Given the description of an element on the screen output the (x, y) to click on. 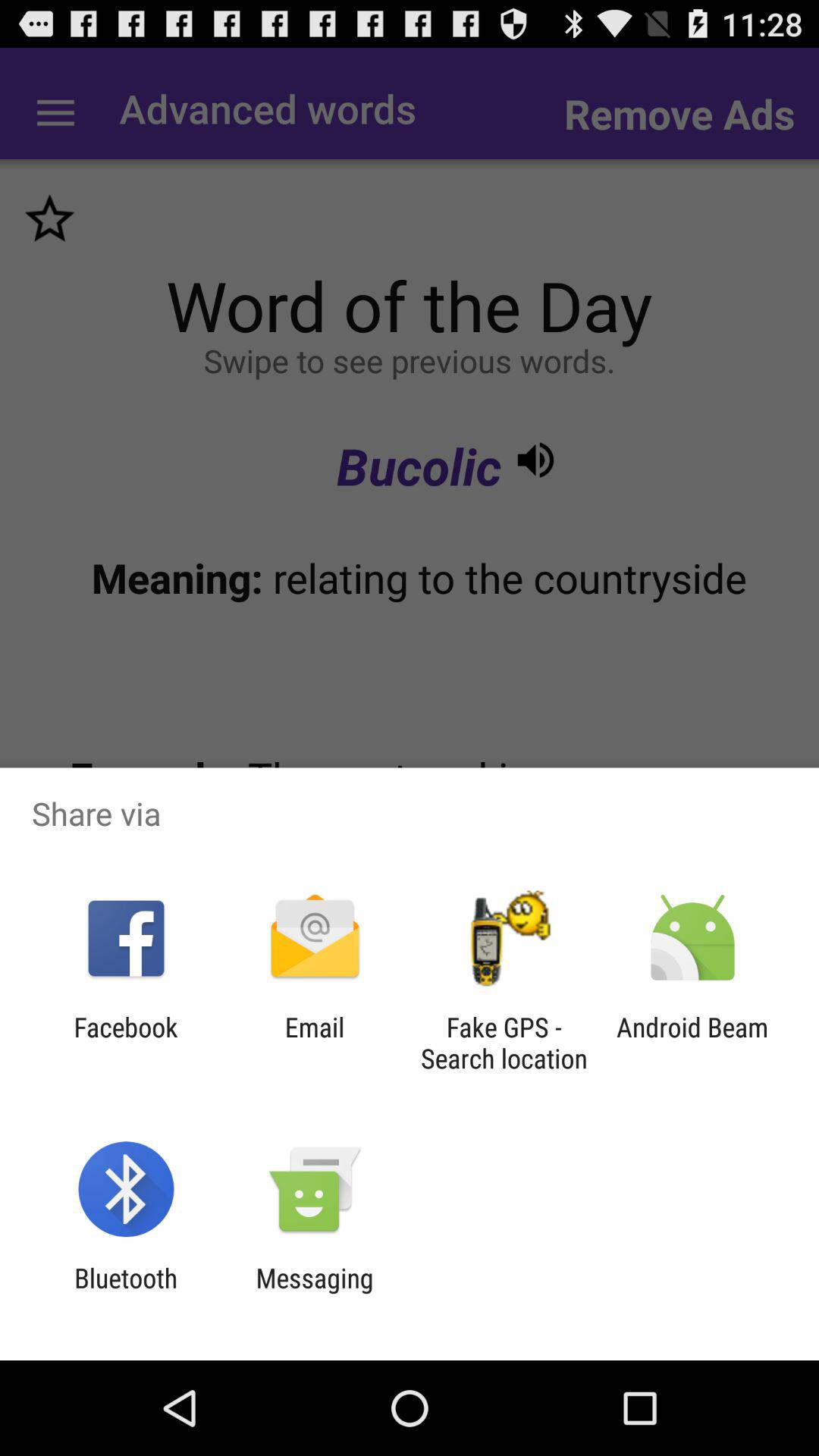
turn off the facebook app (125, 1042)
